Given the description of an element on the screen output the (x, y) to click on. 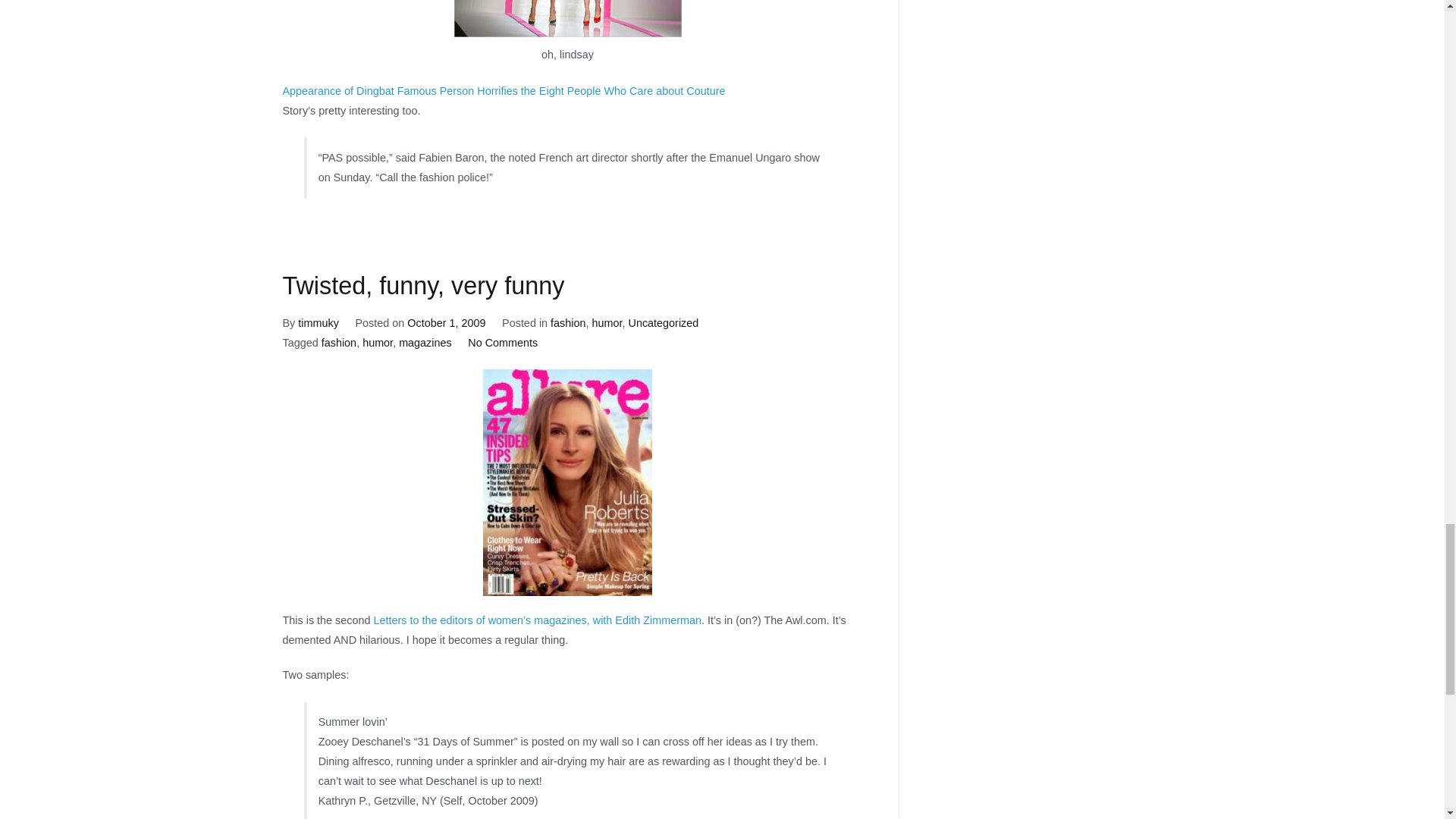
julia-roberts-allure-march-2009 (567, 482)
